Given the description of an element on the screen output the (x, y) to click on. 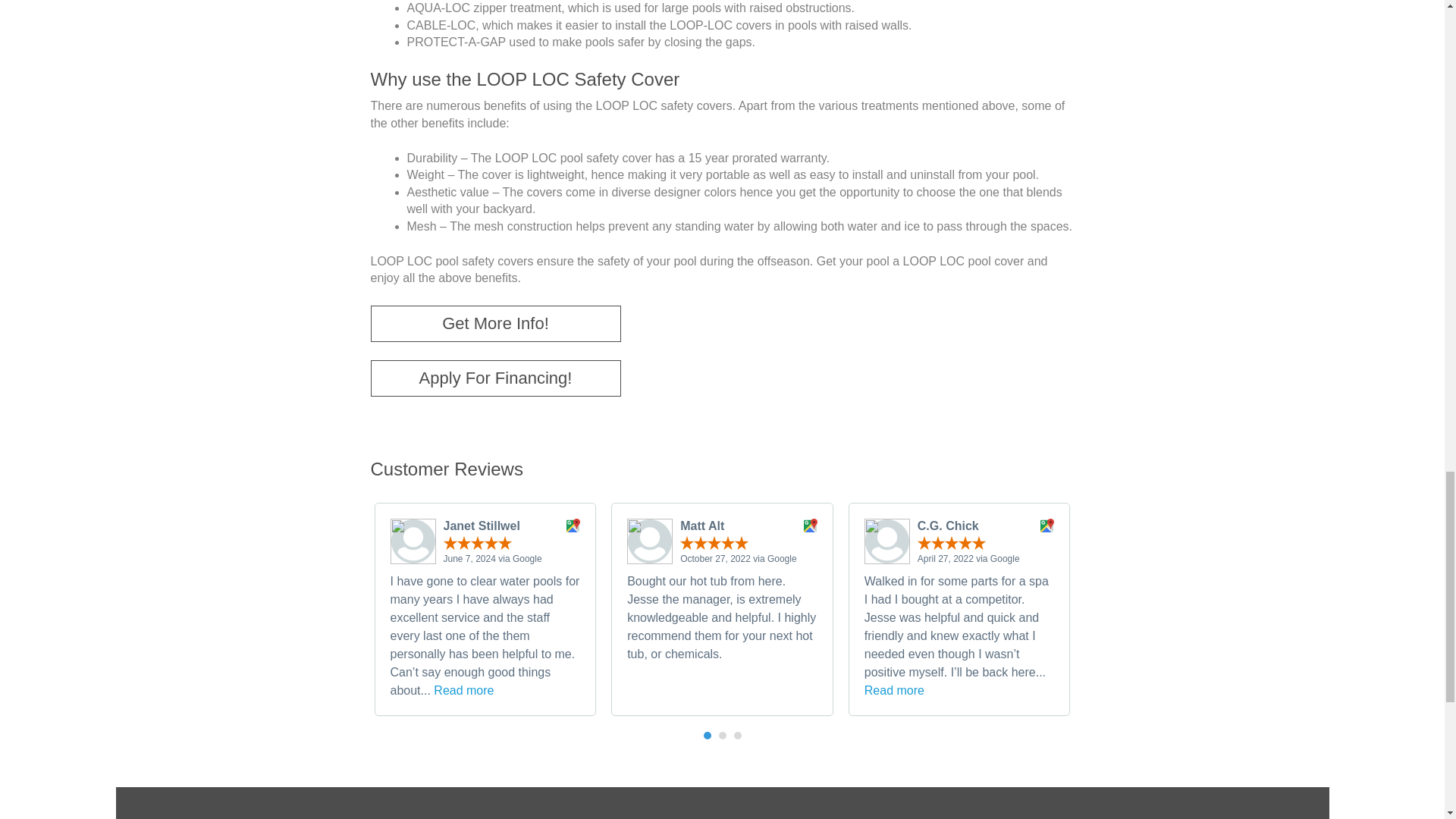
Get More Info! (494, 323)
